Given the description of an element on the screen output the (x, y) to click on. 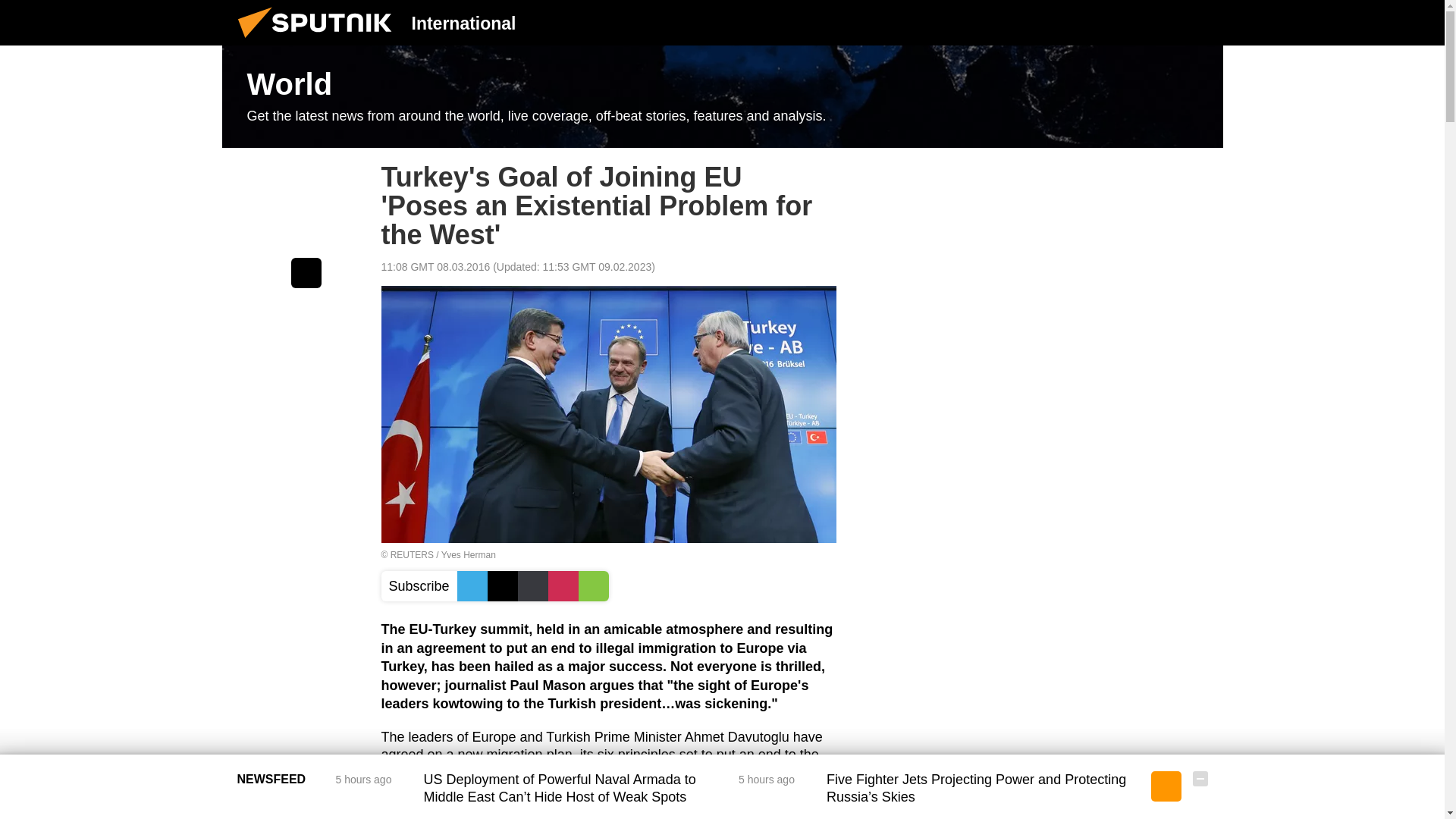
Sputnik International (319, 41)
World (722, 96)
Chats (1199, 22)
Authorization (1123, 22)
